Given the description of an element on the screen output the (x, y) to click on. 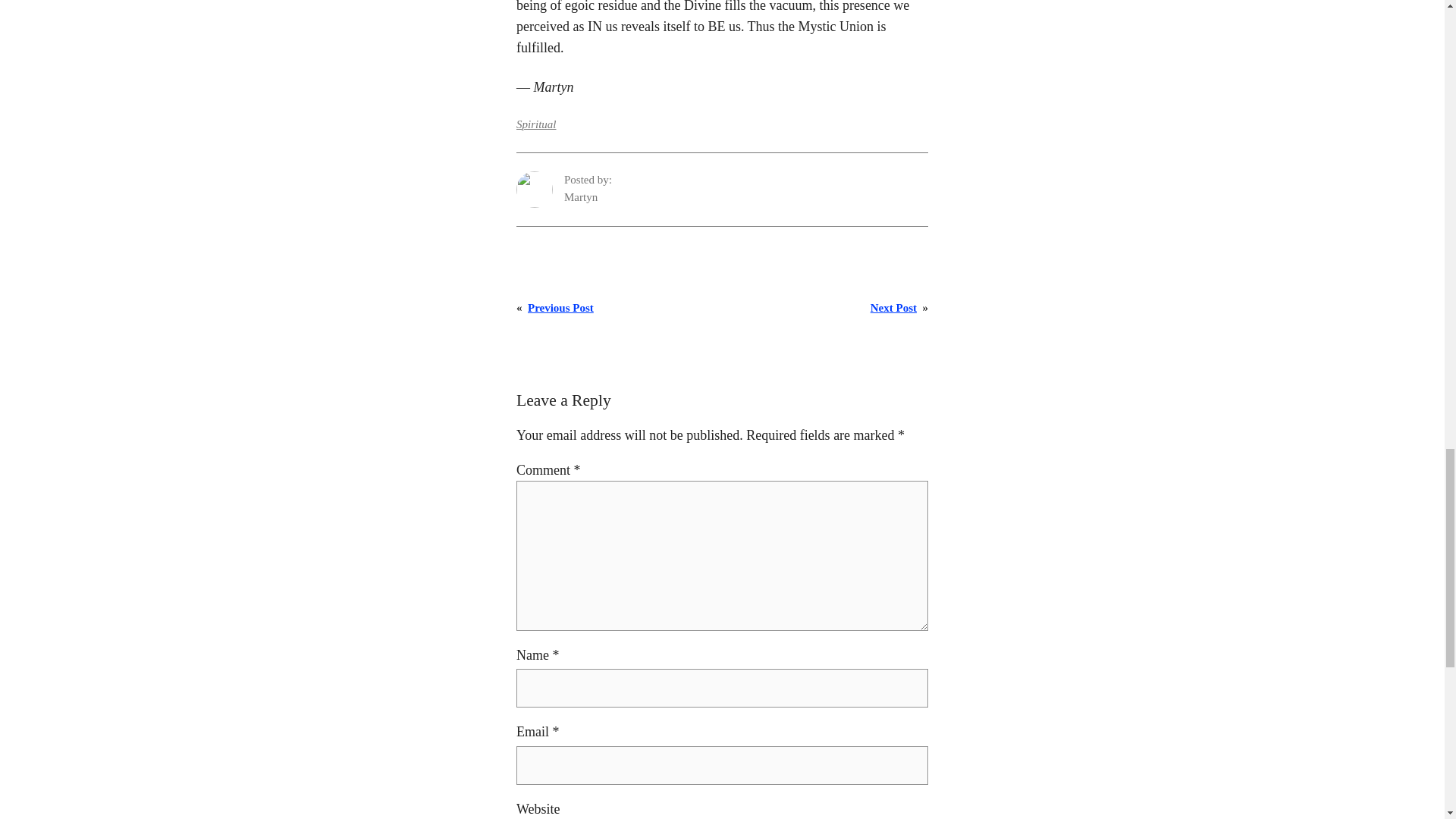
Spiritual (536, 123)
Next Post (893, 307)
Previous Post (560, 307)
